Given the description of an element on the screen output the (x, y) to click on. 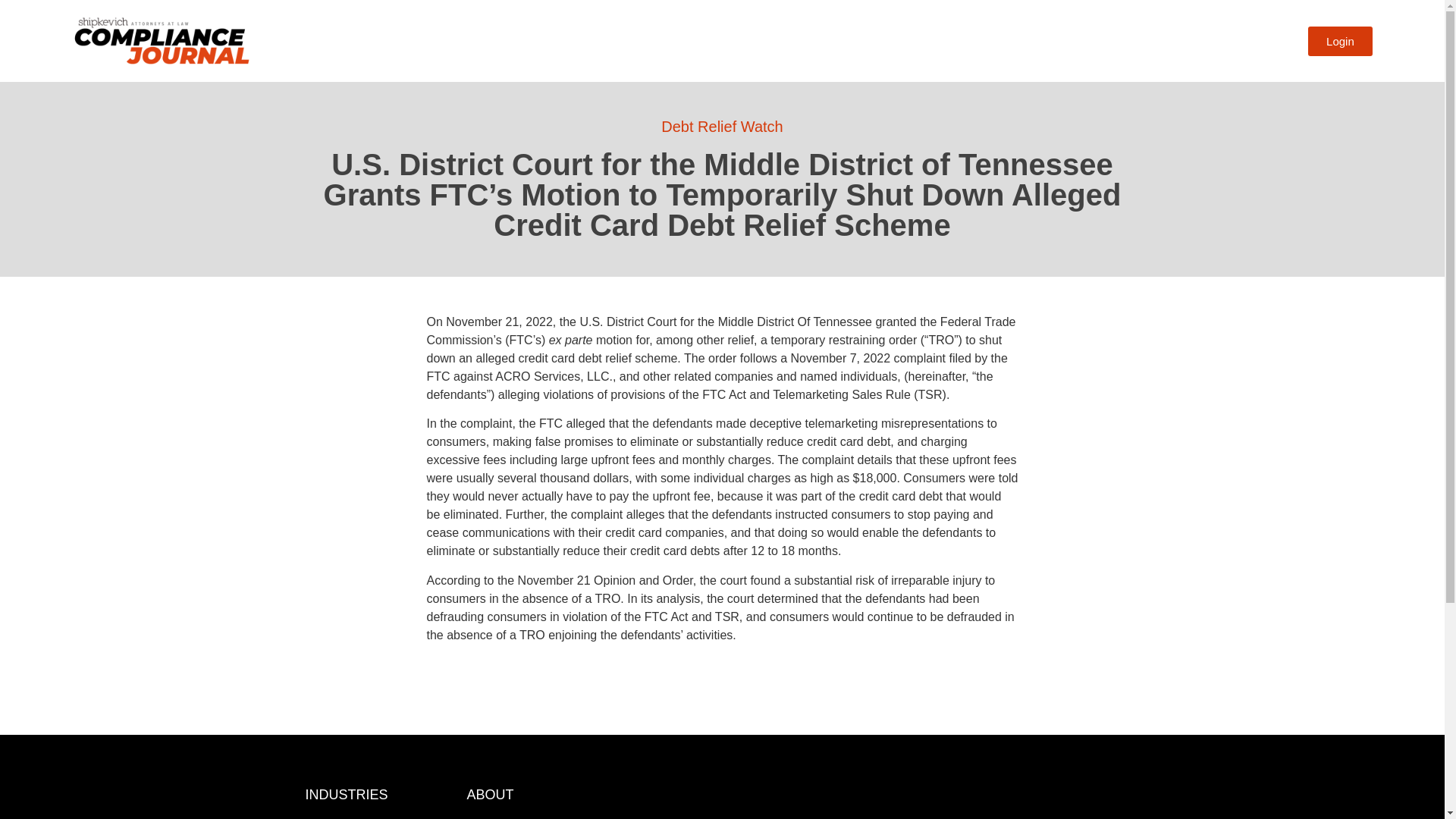
Debt Relief Watch (722, 126)
Money Transmission (377, 817)
Login (1340, 41)
